Given the description of an element on the screen output the (x, y) to click on. 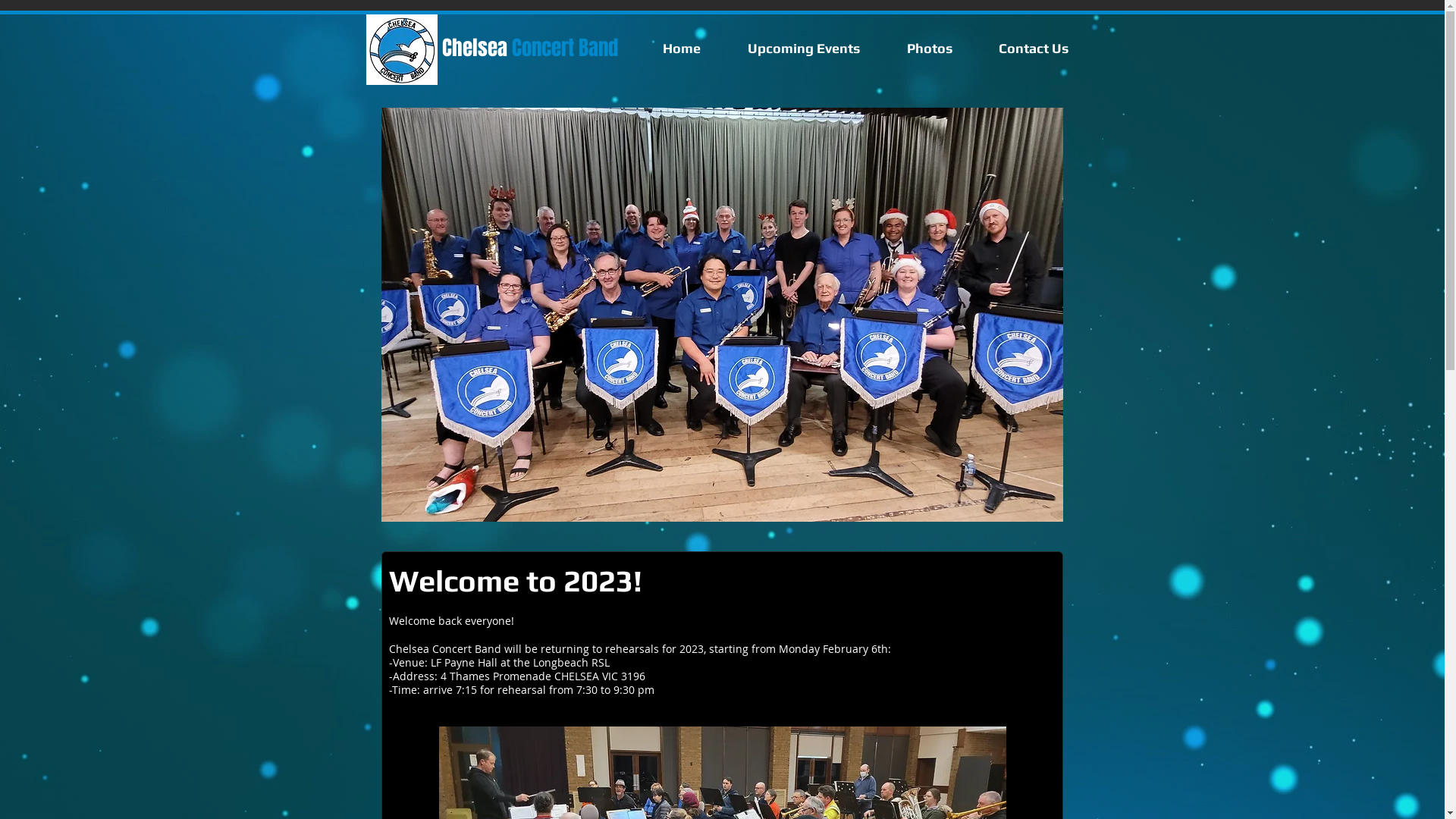
Home Element type: text (681, 48)
Photos Element type: text (929, 48)
Upcoming Events Element type: text (803, 48)
Contact Us Element type: text (1033, 48)
